Given the description of an element on the screen output the (x, y) to click on. 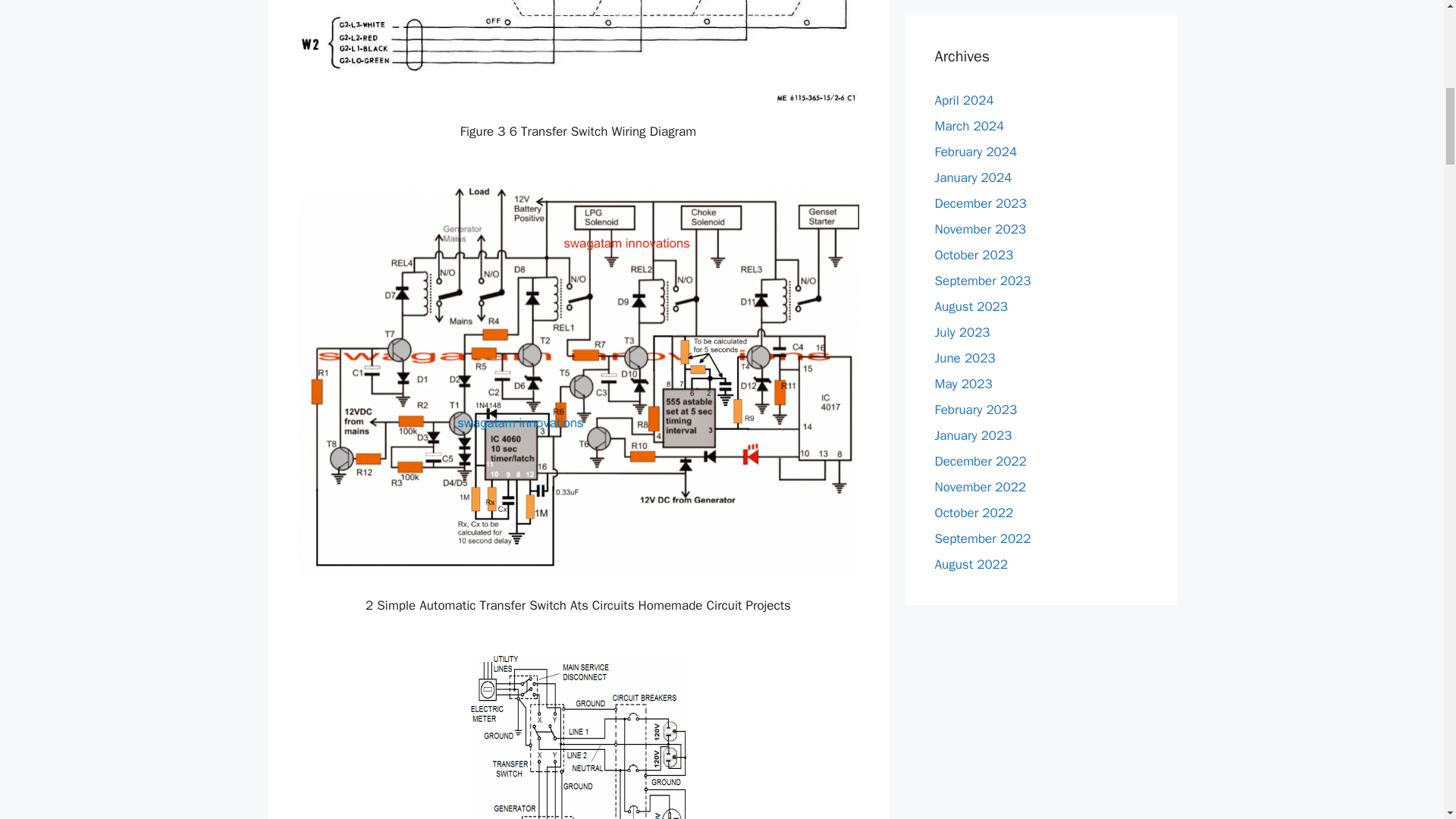
January 2024 (972, 177)
June 2023 (964, 358)
August 2023 (970, 306)
February 2024 (975, 151)
September 2023 (982, 280)
December 2022 (980, 461)
October 2023 (973, 254)
November 2022 (980, 487)
March 2024 (969, 125)
May 2023 (962, 383)
December 2023 (980, 203)
October 2022 (973, 512)
April 2024 (963, 100)
